Given the description of an element on the screen output the (x, y) to click on. 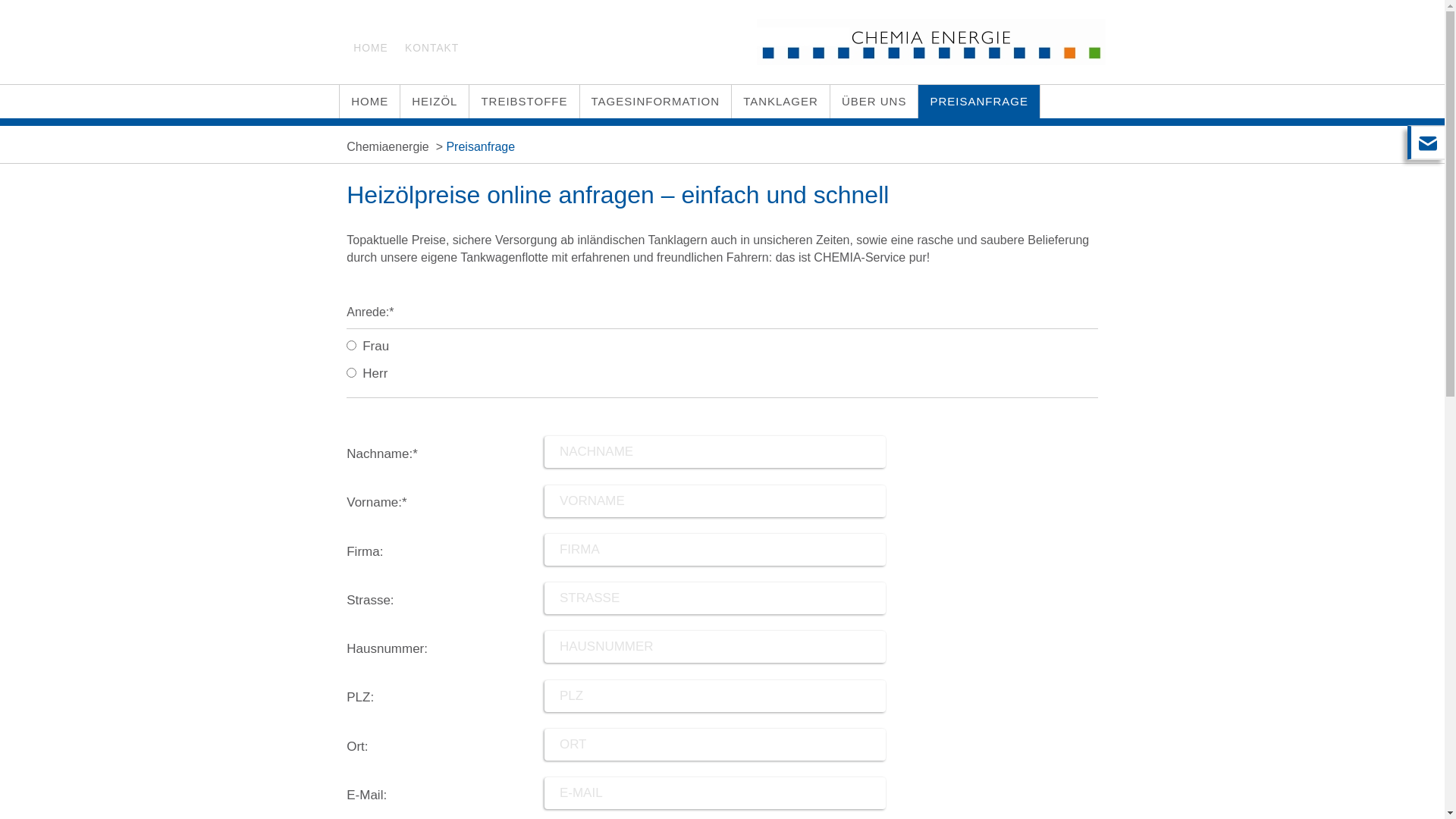
TAGESINFORMATION Element type: text (655, 101)
TANKLAGER Element type: text (780, 101)
PREISANFRAGE Element type: text (978, 101)
TREIBSTOFFE Element type: text (523, 101)
HOME Element type: text (369, 101)
KONTAKT Element type: text (431, 47)
Chemiaenergie Element type: text (387, 145)
HOME Element type: text (370, 47)
